Given the description of an element on the screen output the (x, y) to click on. 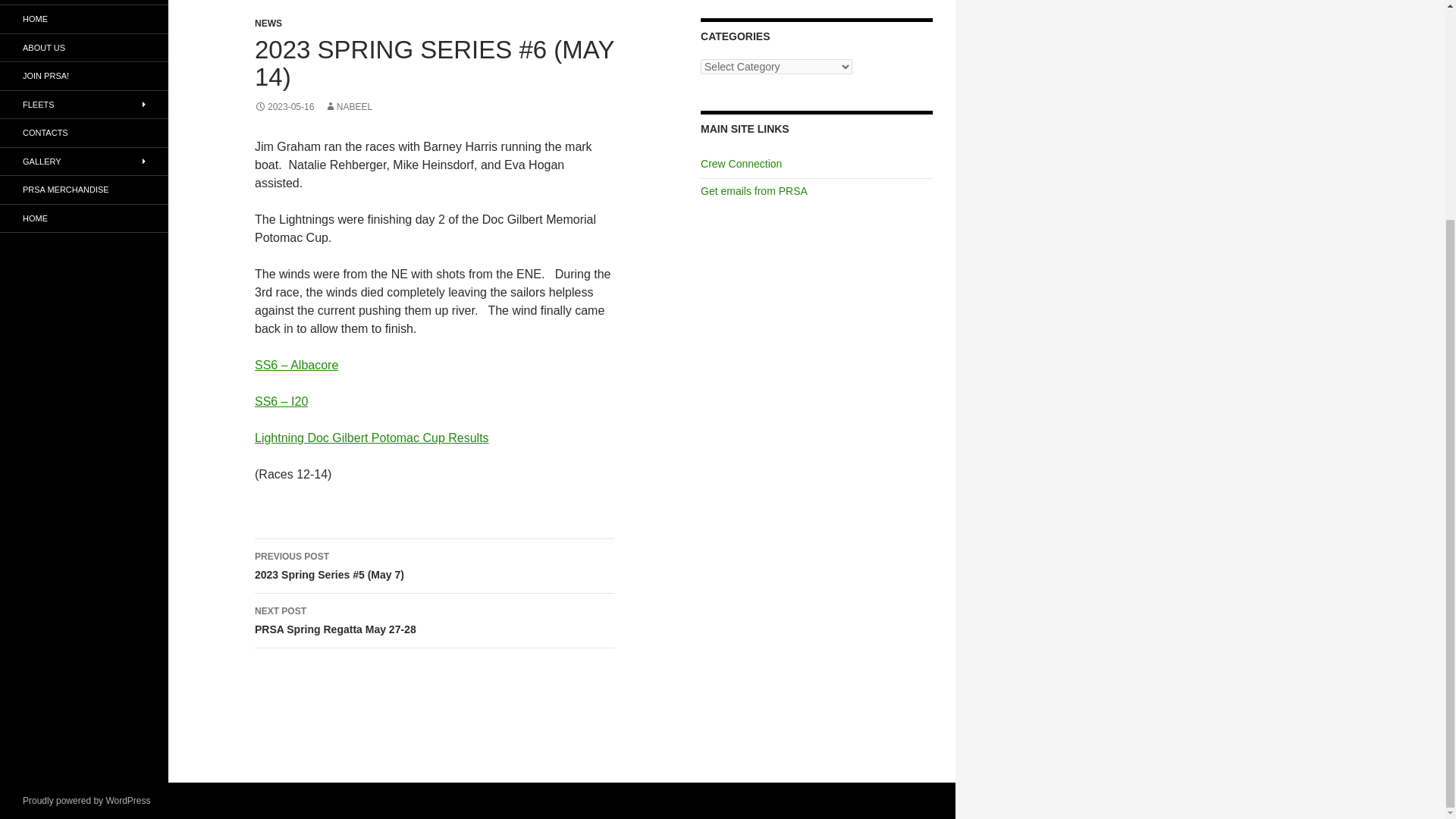
HOME (84, 18)
FLEETS (84, 103)
ABOUT US (84, 48)
Lightning Doc Gilbert Potomac Cup Results (371, 437)
JOIN PRSA! (84, 76)
NABEEL (348, 106)
2023-05-16 (284, 106)
Get emails from PRSA (754, 191)
